Given the description of an element on the screen output the (x, y) to click on. 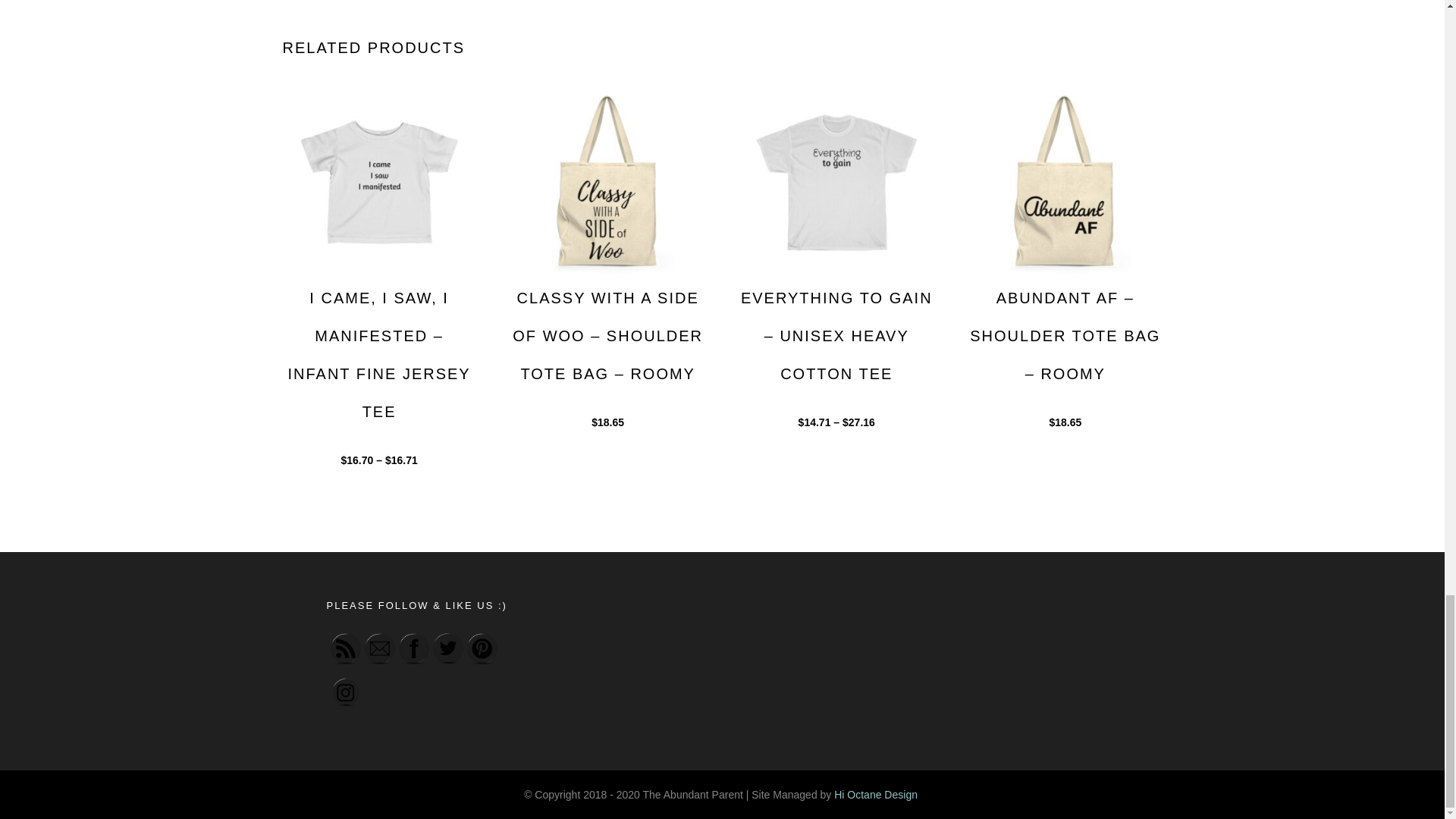
Follow by Email (379, 648)
TWITTER (447, 648)
Facebook (413, 648)
Instagram (345, 692)
RSS (345, 648)
PINTEREST (482, 648)
